Given the description of an element on the screen output the (x, y) to click on. 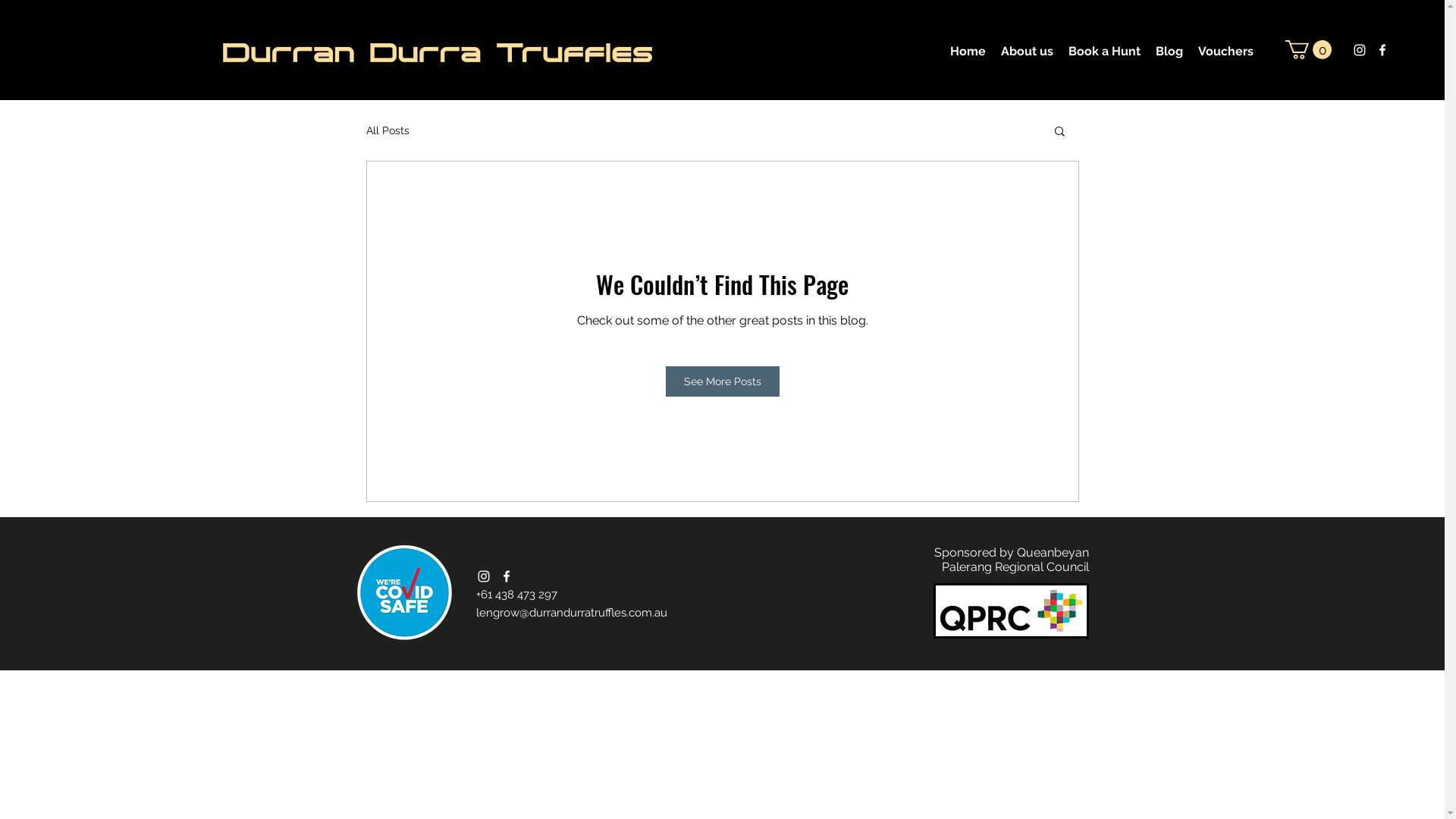
lengrow@durrandurratruffles.com.au Element type: text (571, 612)
Book a Hunt Element type: text (1104, 51)
Vouchers Element type: text (1225, 51)
Blog Element type: text (1169, 51)
About us Element type: text (1026, 51)
0 Element type: text (1308, 49)
Home Element type: text (967, 51)
See More Posts Element type: text (722, 381)
All Posts Element type: text (386, 130)
